Given the description of an element on the screen output the (x, y) to click on. 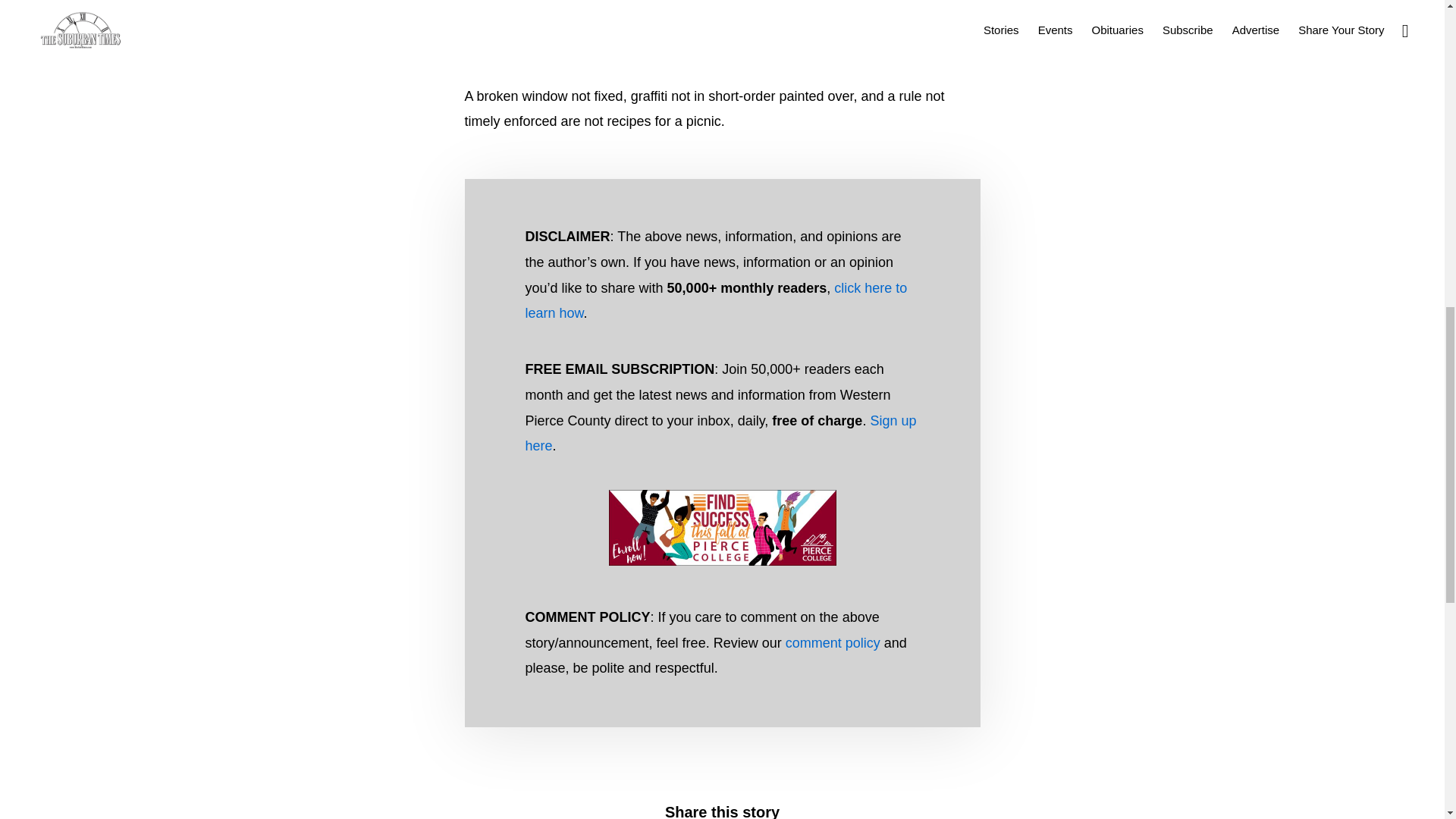
Sign up here (719, 433)
comment policy (833, 642)
click here to learn how (715, 300)
